Given the description of an element on the screen output the (x, y) to click on. 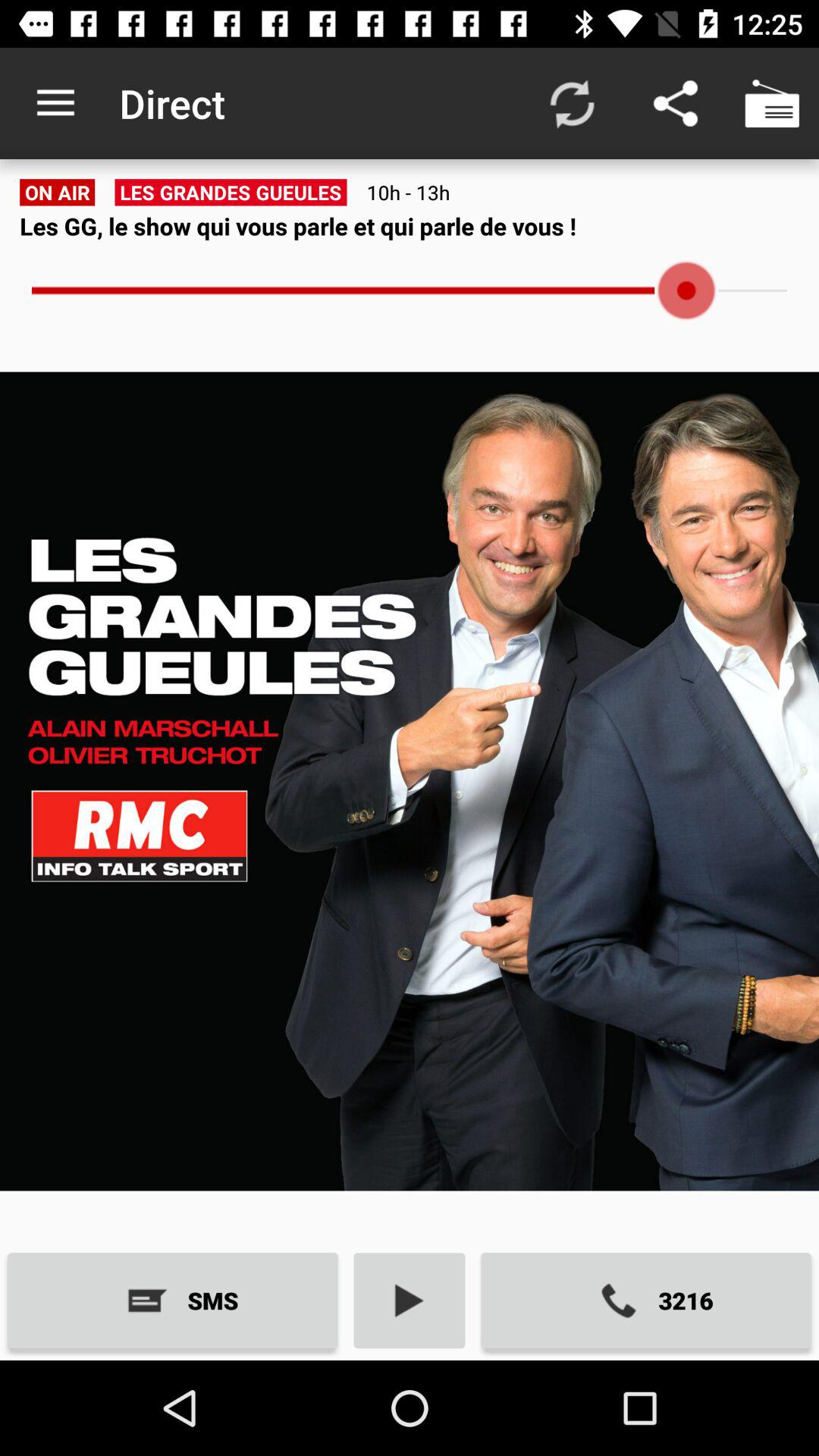
open the item next to the 3216 icon (409, 1300)
